Given the description of an element on the screen output the (x, y) to click on. 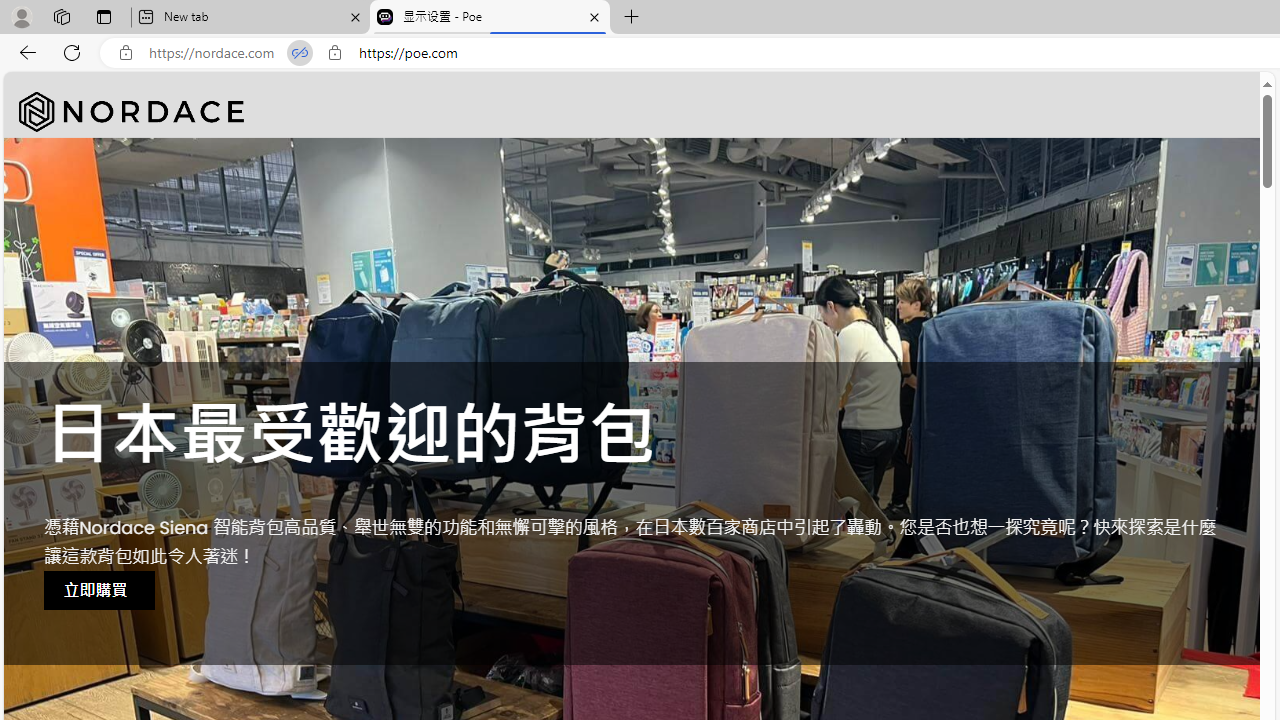
Workspaces (61, 16)
New Tab (632, 17)
New tab (250, 17)
View site information (334, 53)
Close tab (594, 16)
Tabs in split screen (299, 53)
Refresh (72, 52)
Personal Profile (21, 16)
Nordace (131, 111)
Tab actions menu (104, 16)
Back (24, 52)
